Given the description of an element on the screen output the (x, y) to click on. 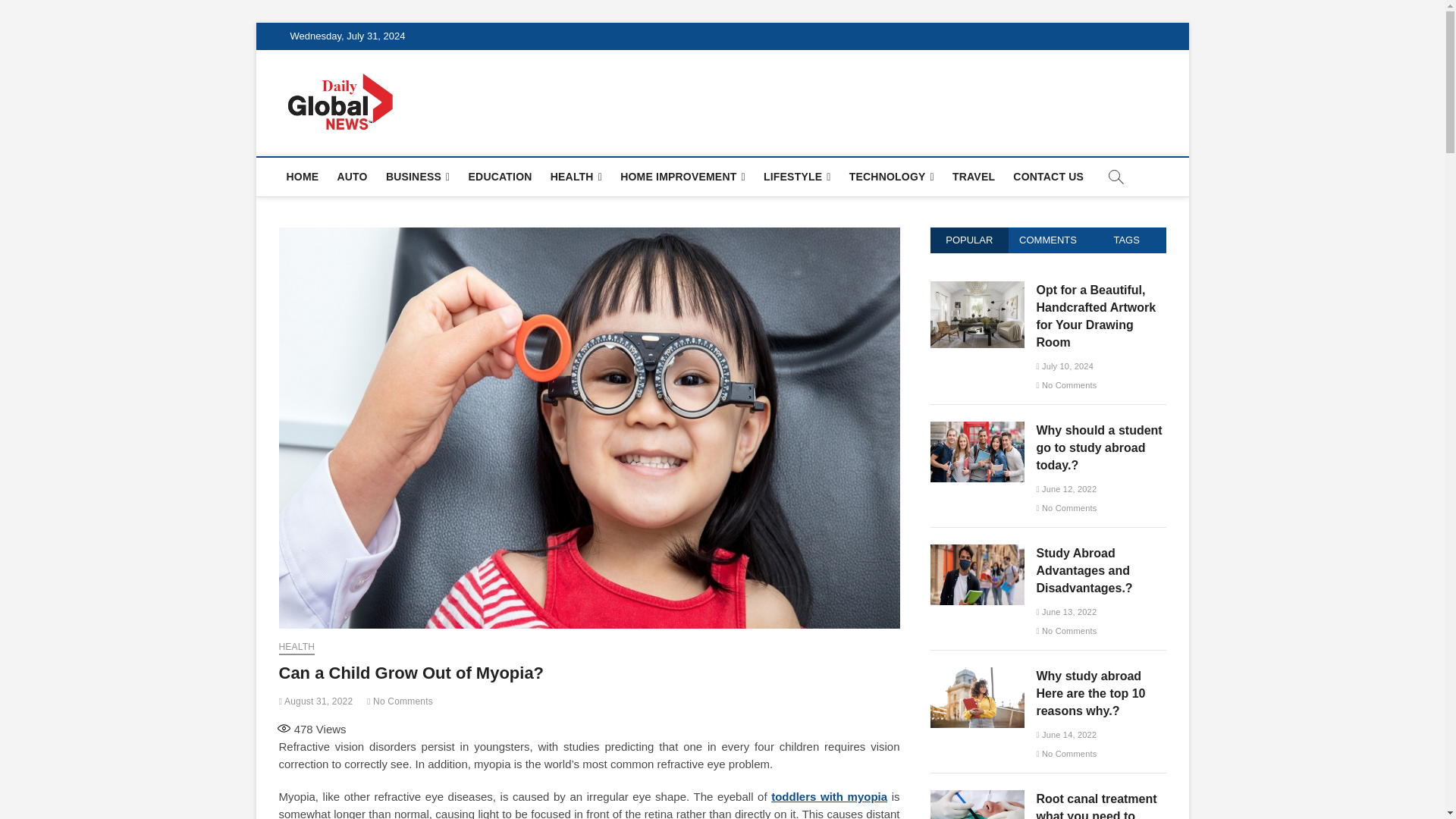
TECHNOLOGY (891, 177)
No Comments (399, 701)
Why should a student go to study abroad today.? (977, 394)
TRAVEL (973, 176)
HEALTH (576, 177)
Study Abroad Advantages and Disadvantages.? (977, 517)
CONTACT US (1048, 176)
August 31, 2022 (316, 701)
TAGS (1126, 240)
5 steps to be a real estate agent (977, 288)
